Given the description of an element on the screen output the (x, y) to click on. 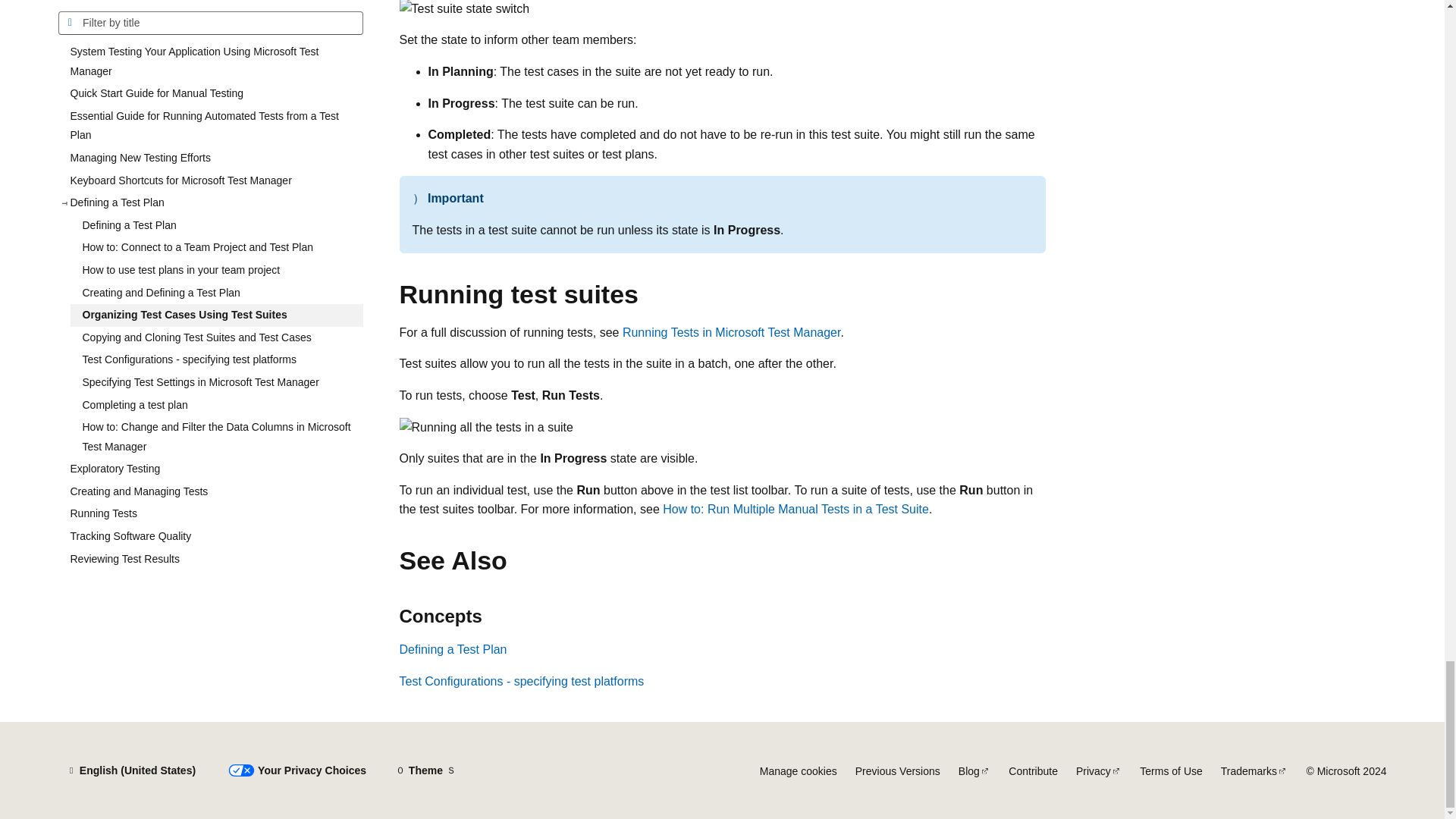
Running all the tests in a suite (485, 427)
Theme (425, 770)
Test suite state switch (463, 9)
